Given the description of an element on the screen output the (x, y) to click on. 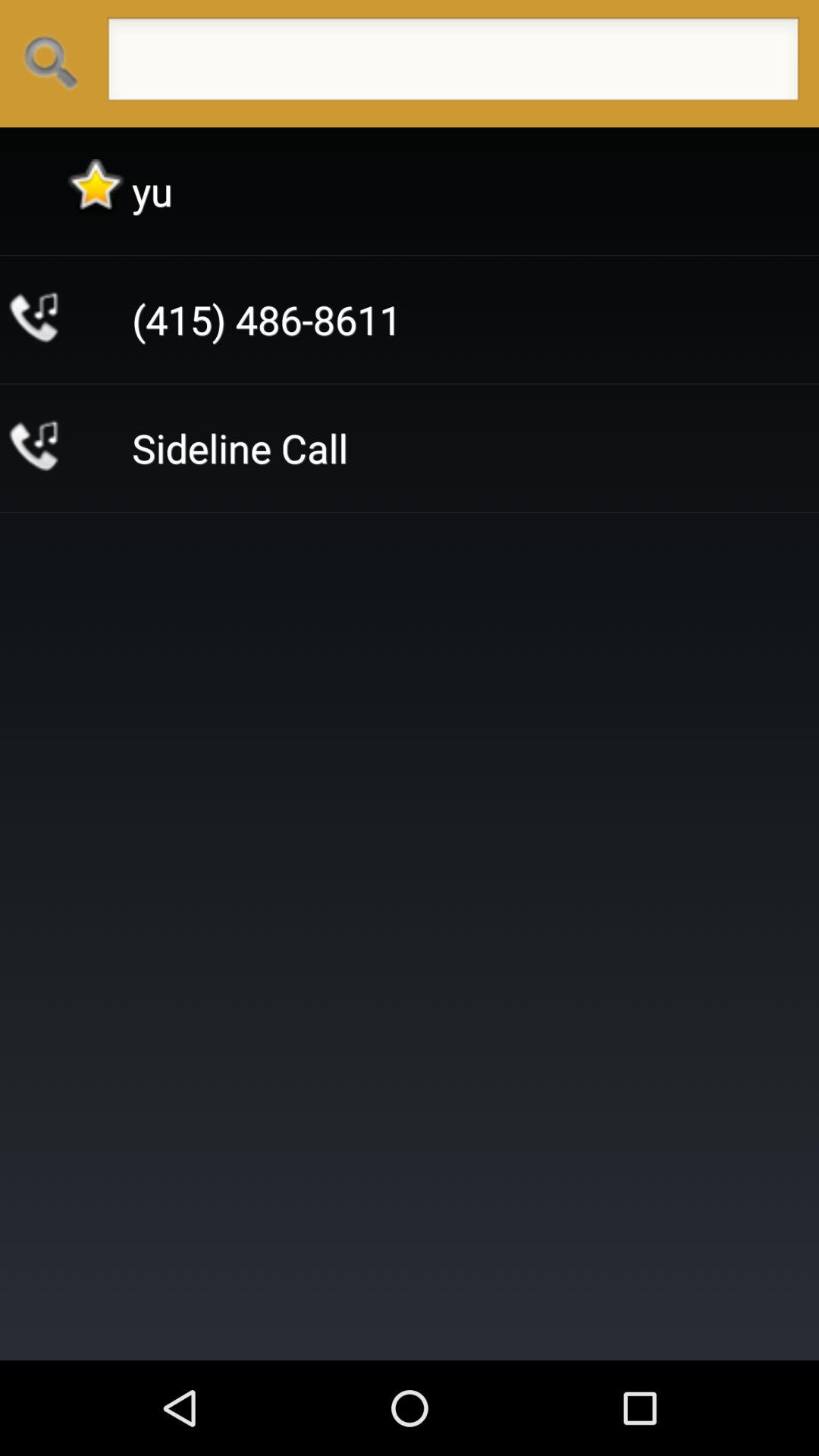
turn on yu app (151, 190)
